Given the description of an element on the screen output the (x, y) to click on. 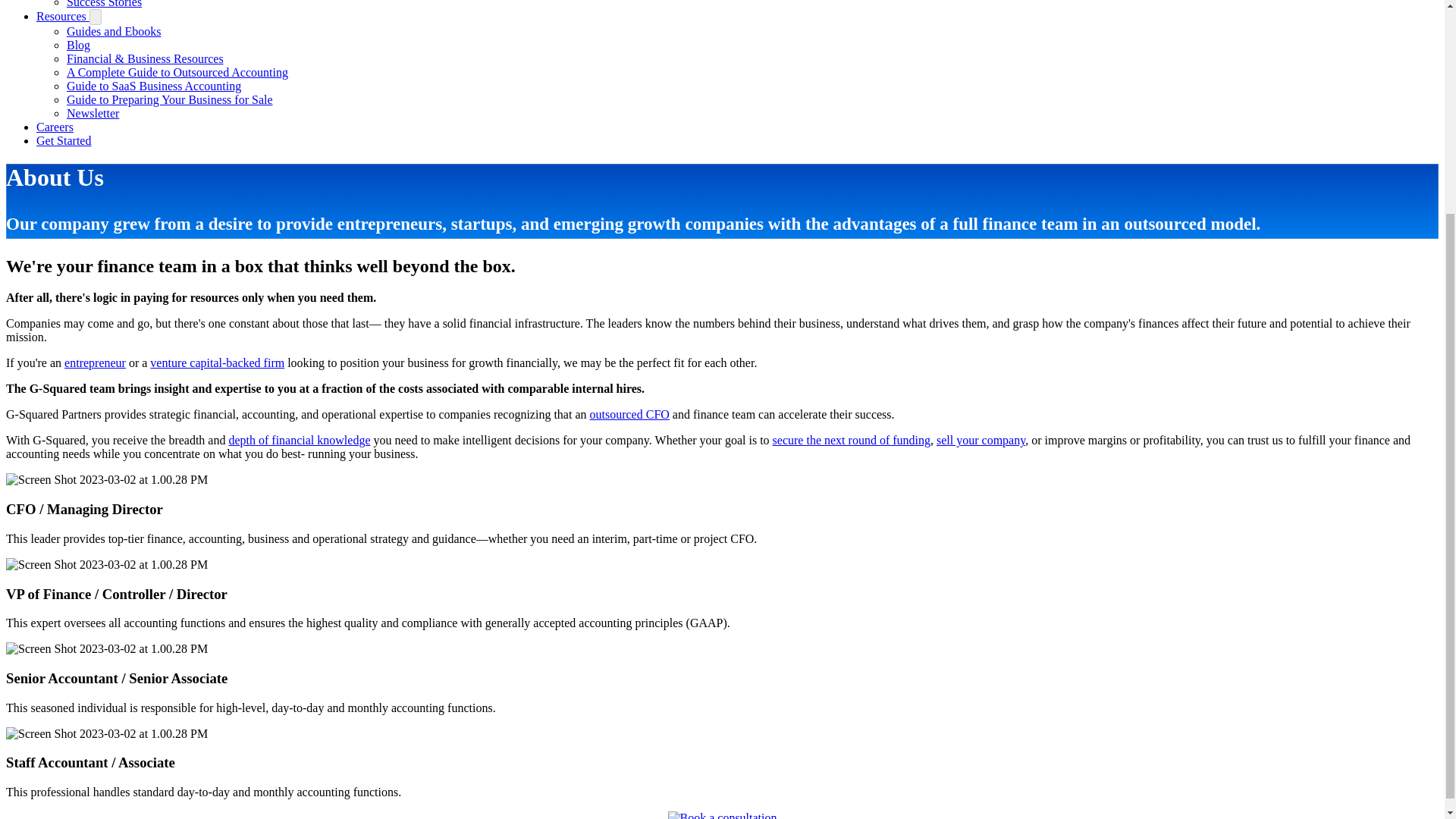
Guides and Ebooks (113, 31)
Resources (62, 15)
outsourced CFO (629, 413)
Careers (55, 126)
A Complete Guide to Outsourced Accounting (177, 72)
venture capital-backed firm (216, 362)
depth of financial knowledge (298, 440)
entrepreneur (94, 362)
Get Started (63, 140)
Guide to SaaS Business Accounting (153, 85)
